Given the description of an element on the screen output the (x, y) to click on. 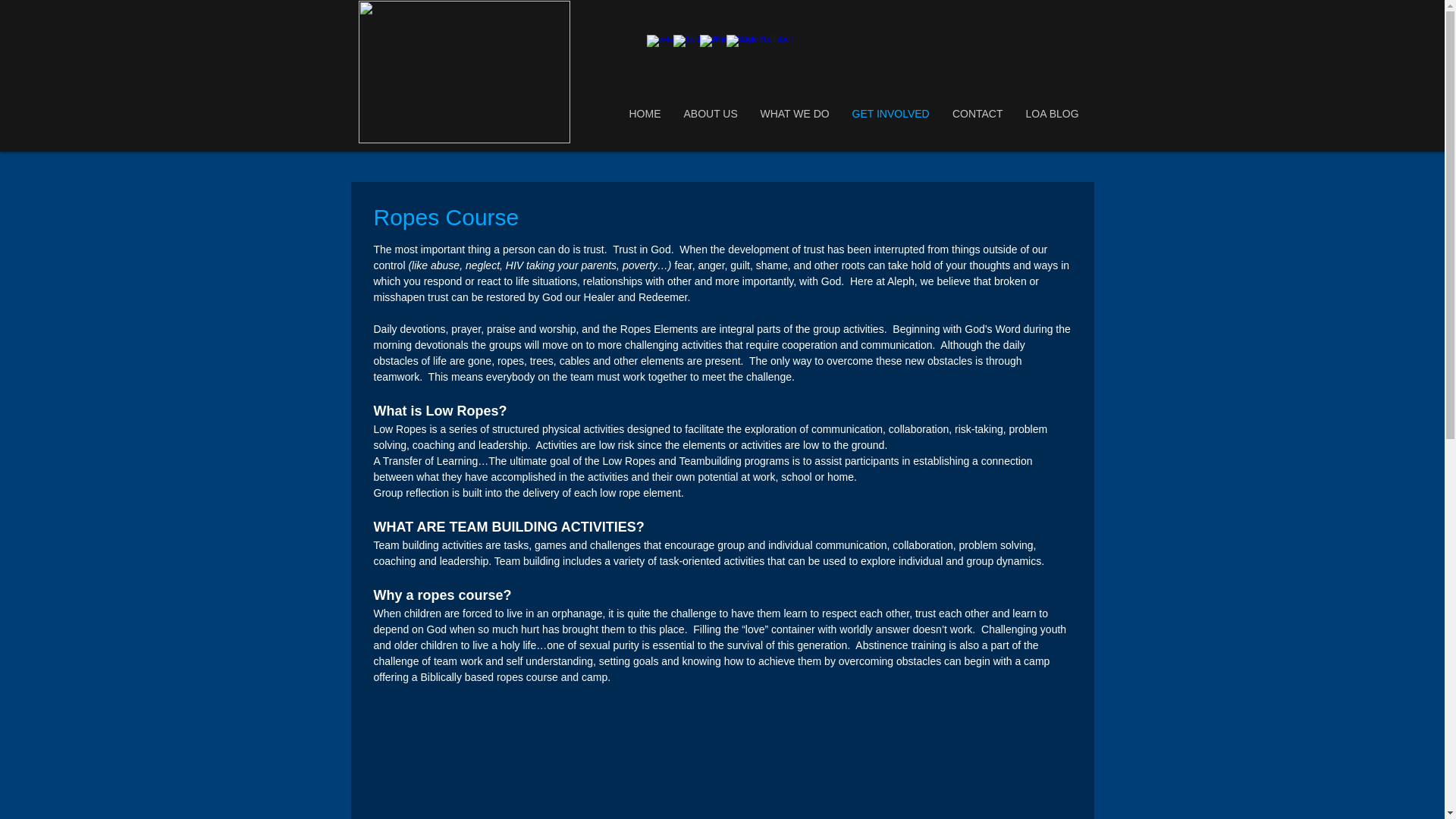
HOME (644, 113)
LOA BLOG (1052, 113)
CONTACT (976, 113)
GET INVOLVED (890, 113)
WHAT WE DO (795, 113)
ABOUT US (709, 113)
